Given the description of an element on the screen output the (x, y) to click on. 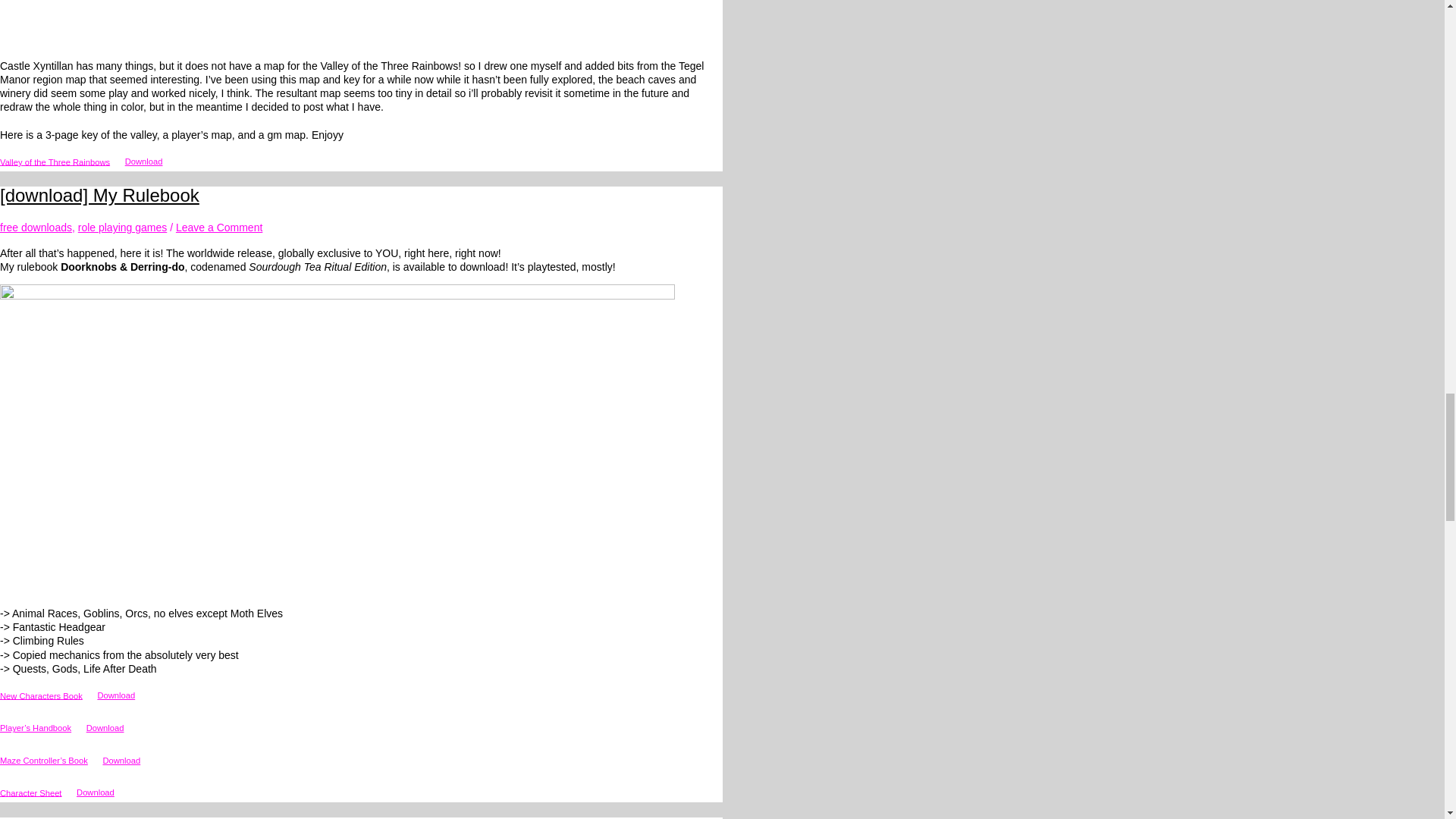
role playing games (122, 227)
Download (143, 161)
Download (115, 695)
Character Sheet (30, 791)
Valley of the Three Rainbows (55, 161)
Download (105, 727)
Leave a Comment (219, 227)
free downloads (35, 227)
Download (121, 760)
Download (95, 792)
New Characters Book (41, 695)
